Given the description of an element on the screen output the (x, y) to click on. 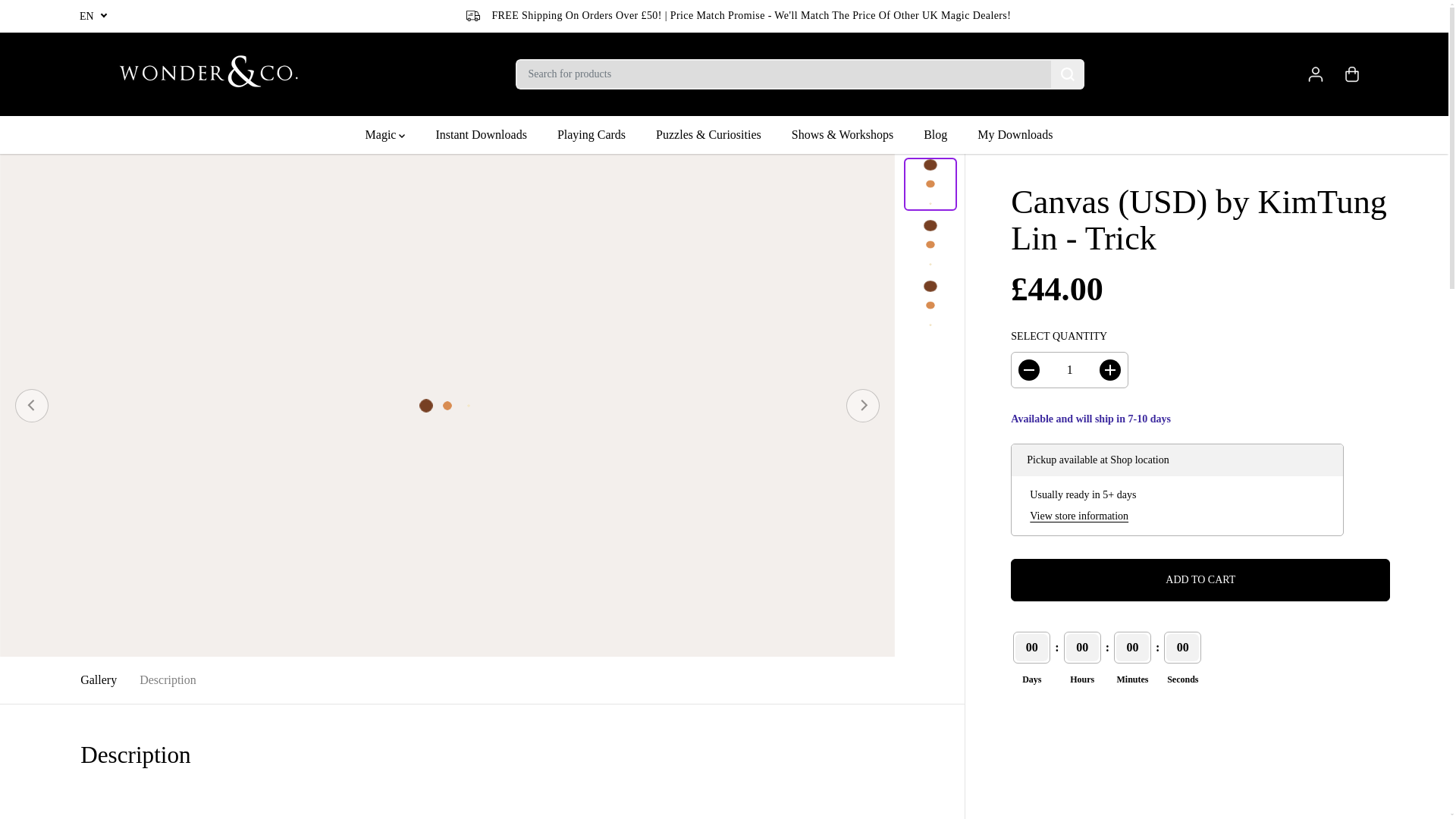
SKIP TO CONTENT (60, 18)
1 (1069, 370)
Log in (1315, 73)
Cart (1351, 73)
